Given the description of an element on the screen output the (x, y) to click on. 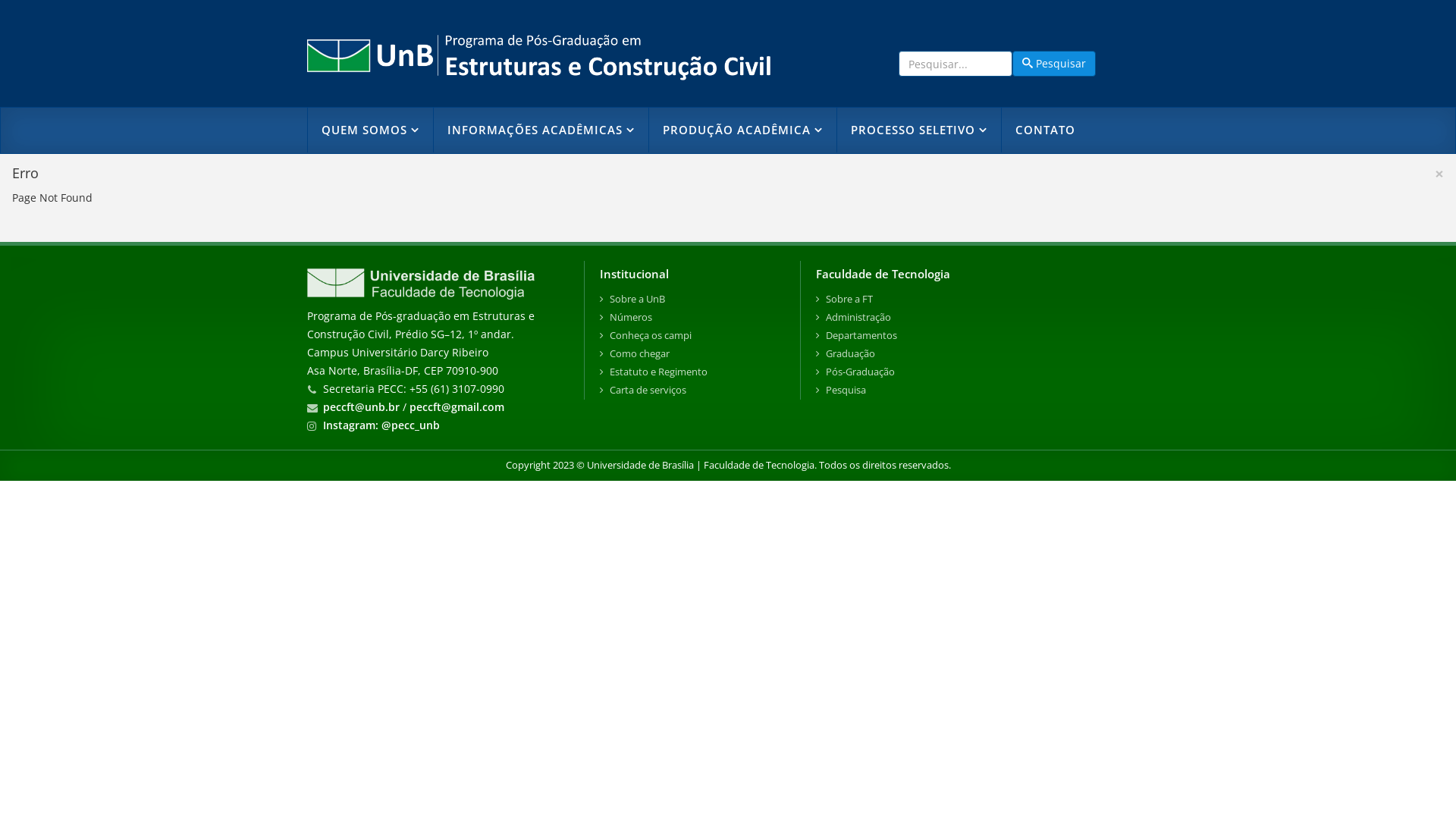
QUEM SOMOS Element type: text (370, 129)
PROCESSO SELETIVO Element type: text (918, 129)
CONTATO Element type: text (1044, 129)
Como chegar Element type: text (691, 354)
Departamentos Element type: text (980, 335)
Sobre a UnB Element type: text (691, 299)
Sobre a FT Element type: text (980, 299)
Estatuto e Regimento Element type: text (691, 372)
Pesquisa Element type: text (980, 390)
Pesquisar Element type: text (1053, 63)
peccft@gmail.com Element type: text (456, 406)
peccft@unb.br Element type: text (361, 406)
Instagram: @pecc_unb Element type: text (381, 424)
